Given the description of an element on the screen output the (x, y) to click on. 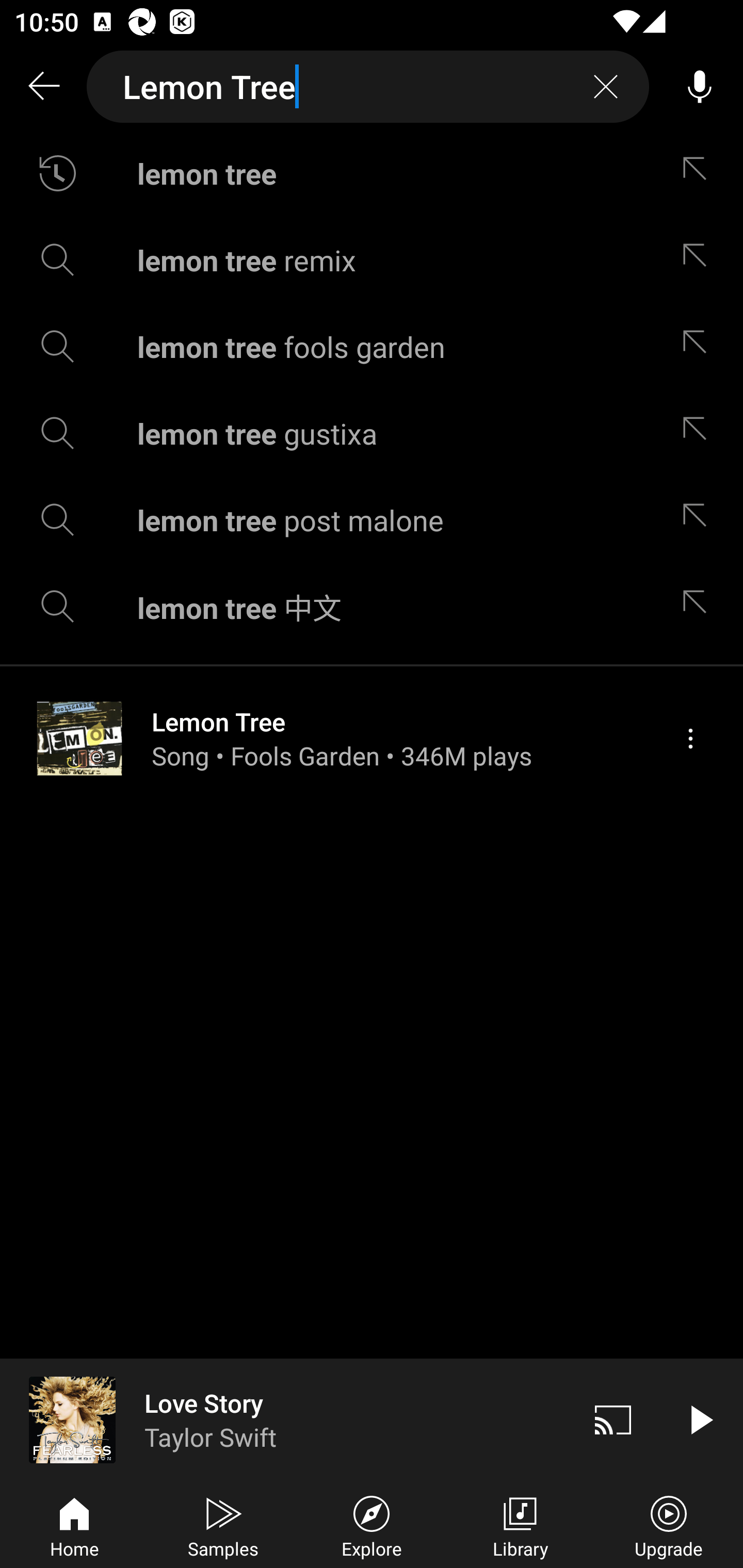
Search back (43, 86)
Lemon Tree (367, 86)
Clear search (605, 86)
Voice search (699, 86)
lemon tree Edit suggestion lemon tree (371, 173)
Edit suggestion lemon tree (699, 173)
lemon tree remix Edit suggestion lemon tree remix (371, 259)
Edit suggestion lemon tree remix (699, 259)
Edit suggestion lemon tree fools garden (699, 346)
Edit suggestion lemon tree gustixa (699, 433)
Edit suggestion lemon tree post malone (699, 519)
lemon tree 中文 Edit suggestion lemon tree 中文 (371, 605)
Edit suggestion lemon tree 中文 (699, 605)
Menu (690, 738)
Love Story Taylor Swift (284, 1419)
Cast. Disconnected (612, 1419)
Play video (699, 1419)
Home (74, 1524)
Samples (222, 1524)
Explore (371, 1524)
Library (519, 1524)
Upgrade (668, 1524)
